Given the description of an element on the screen output the (x, y) to click on. 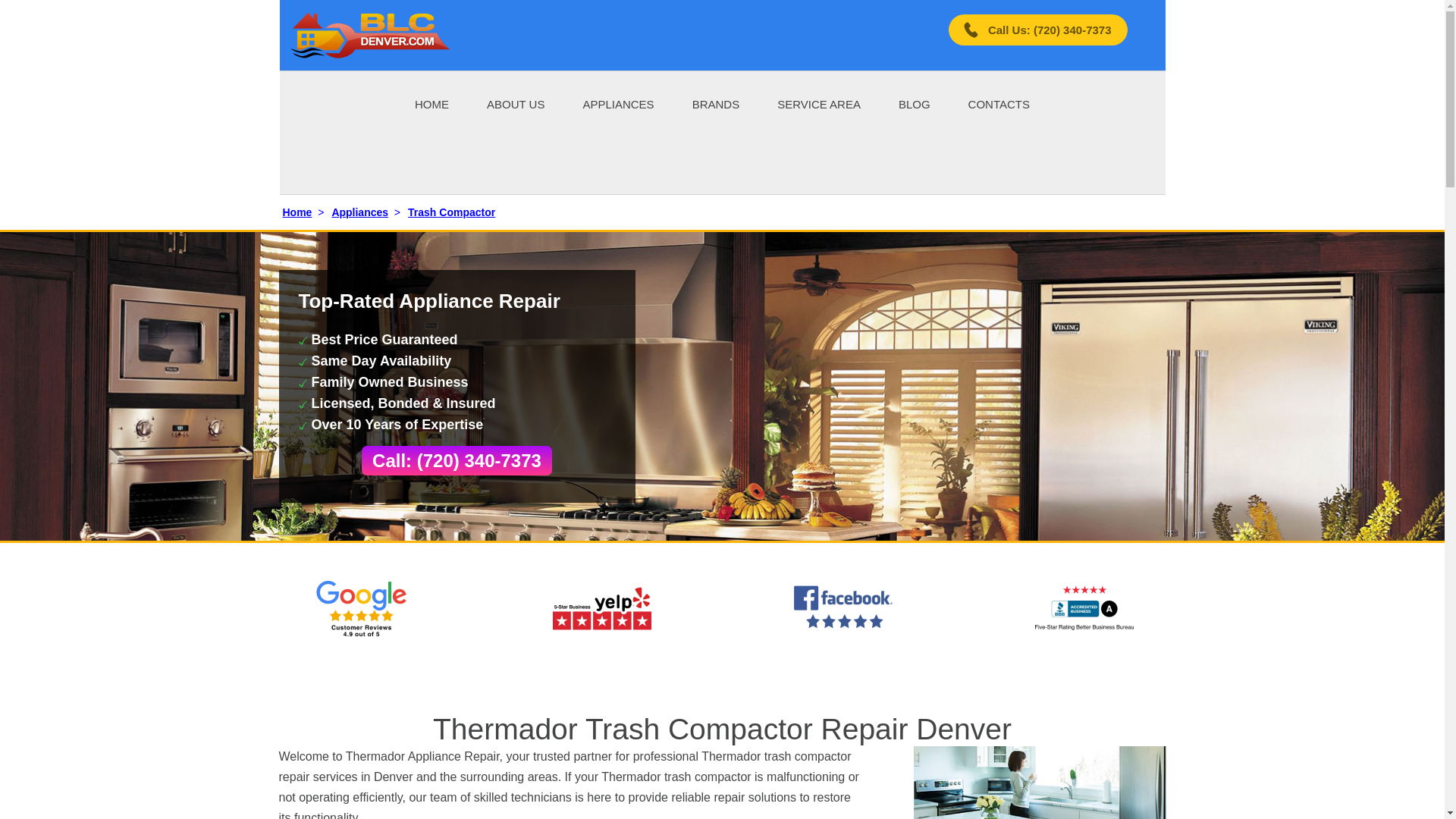
HOME (431, 103)
BRANDS (715, 103)
APPLIANCES (617, 103)
ABOUT US (515, 103)
